Given the description of an element on the screen output the (x, y) to click on. 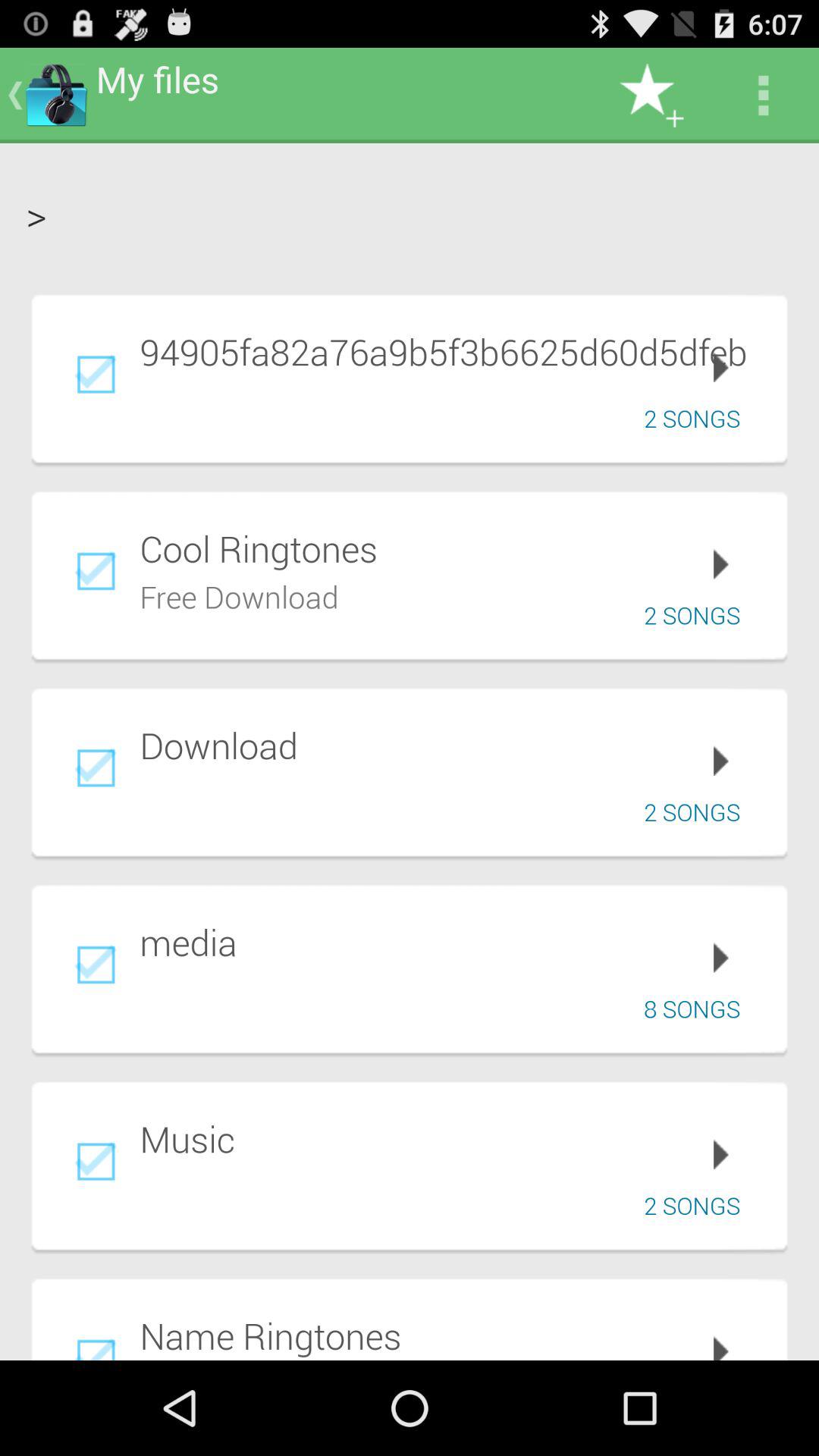
click icon above the 8 songs (452, 941)
